Given the description of an element on the screen output the (x, y) to click on. 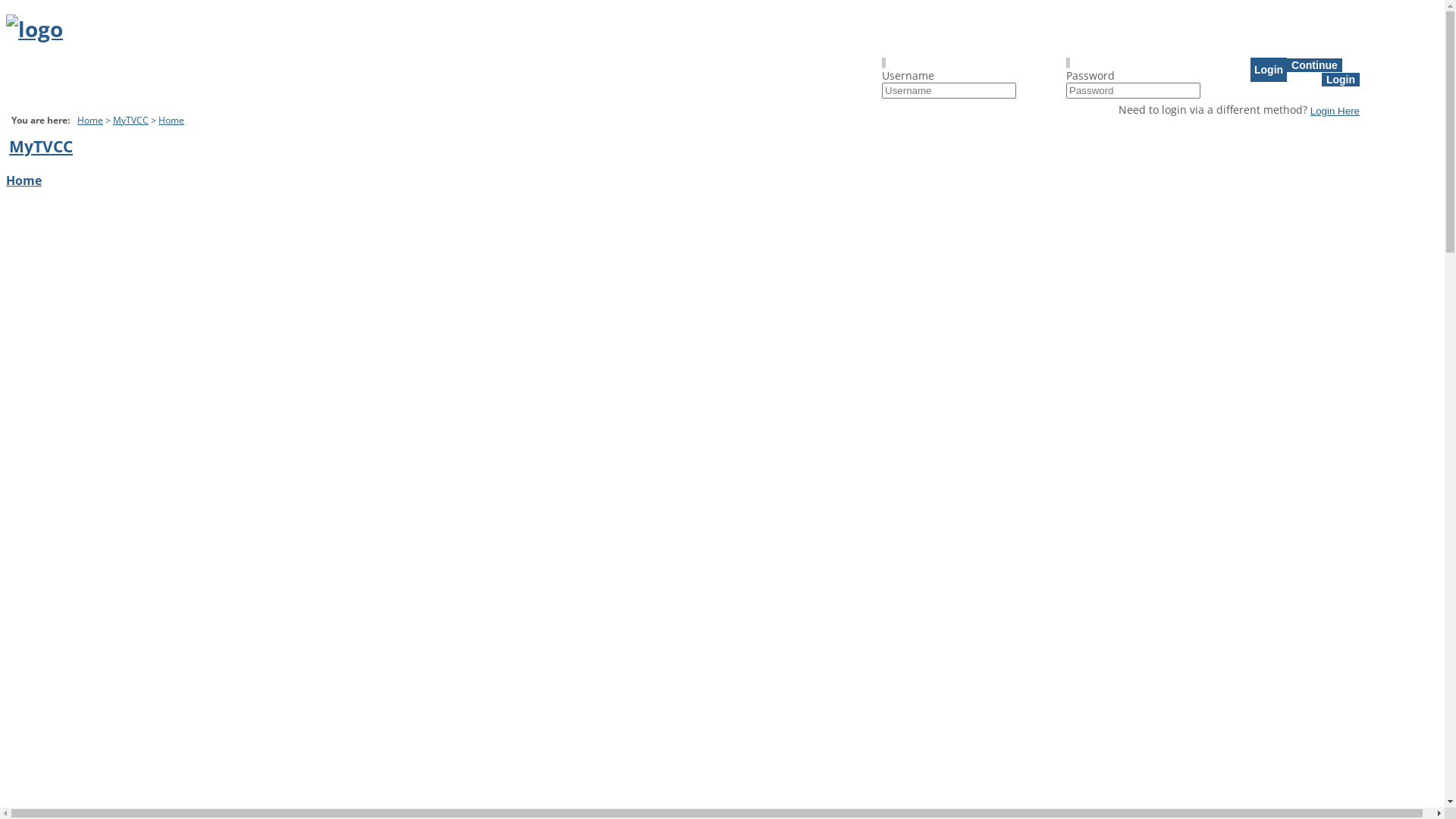
Help Element type: text (29, 104)
Home Element type: text (23, 179)
Continue Element type: text (1314, 64)
Skip to content Element type: text (5, 13)
Home Element type: text (171, 119)
Login Element type: text (1340, 79)
Login Here Element type: text (1334, 110)
Login Element type: text (1268, 69)
Home Element type: text (90, 119)
MyTVCC Element type: text (40, 145)
Home Element type: text (35, 84)
MyTVCC Element type: text (130, 119)
